Given the description of an element on the screen output the (x, y) to click on. 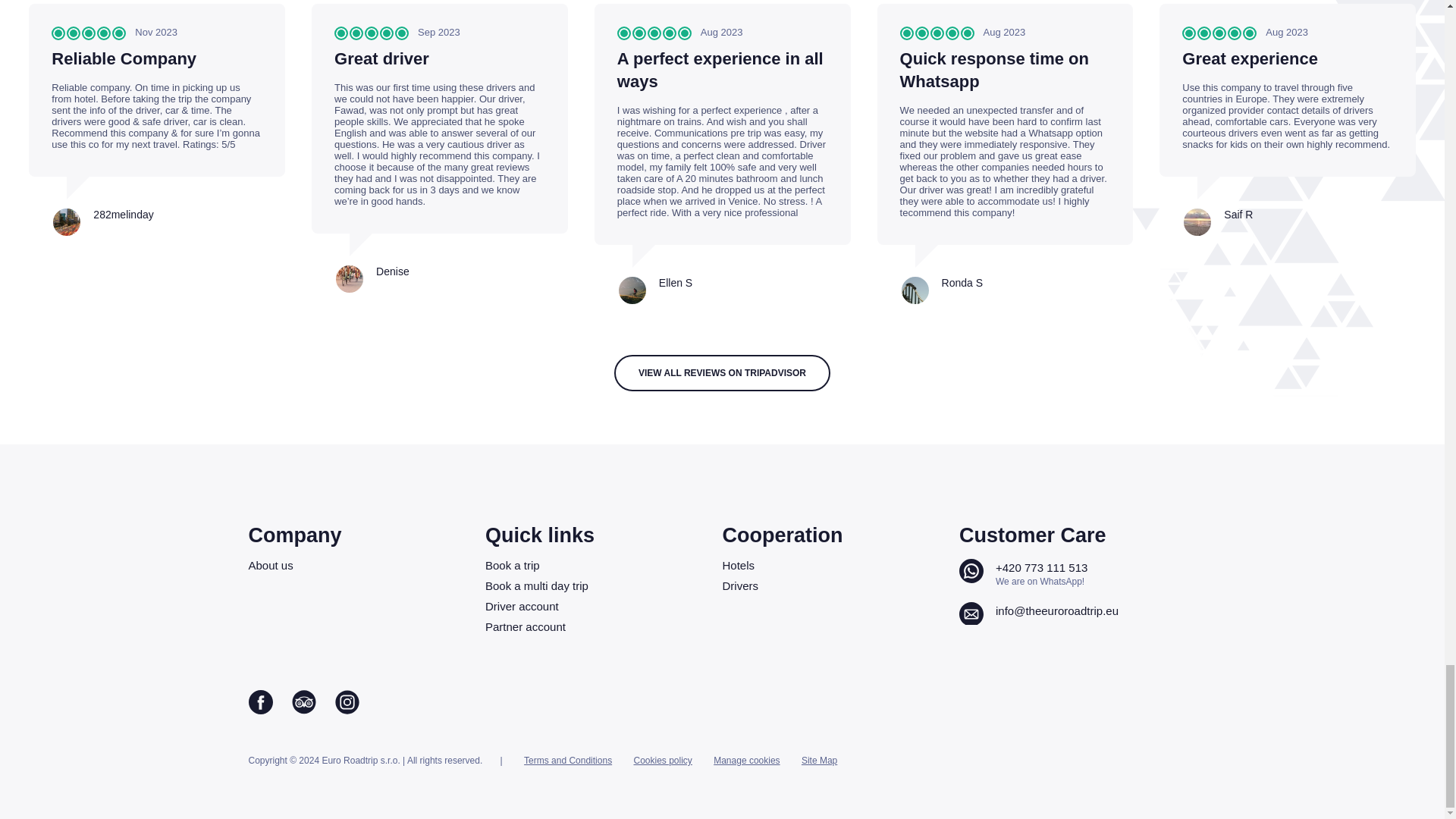
Our TripAdvisor (303, 703)
About us (361, 564)
VIEW ALL REVIEWS ON TRIPADVISOR (721, 372)
Our Facebook (260, 703)
Our Instagram (346, 703)
Book a trip (597, 564)
Book a multi day trip (597, 585)
Driver account (597, 605)
